Given the description of an element on the screen output the (x, y) to click on. 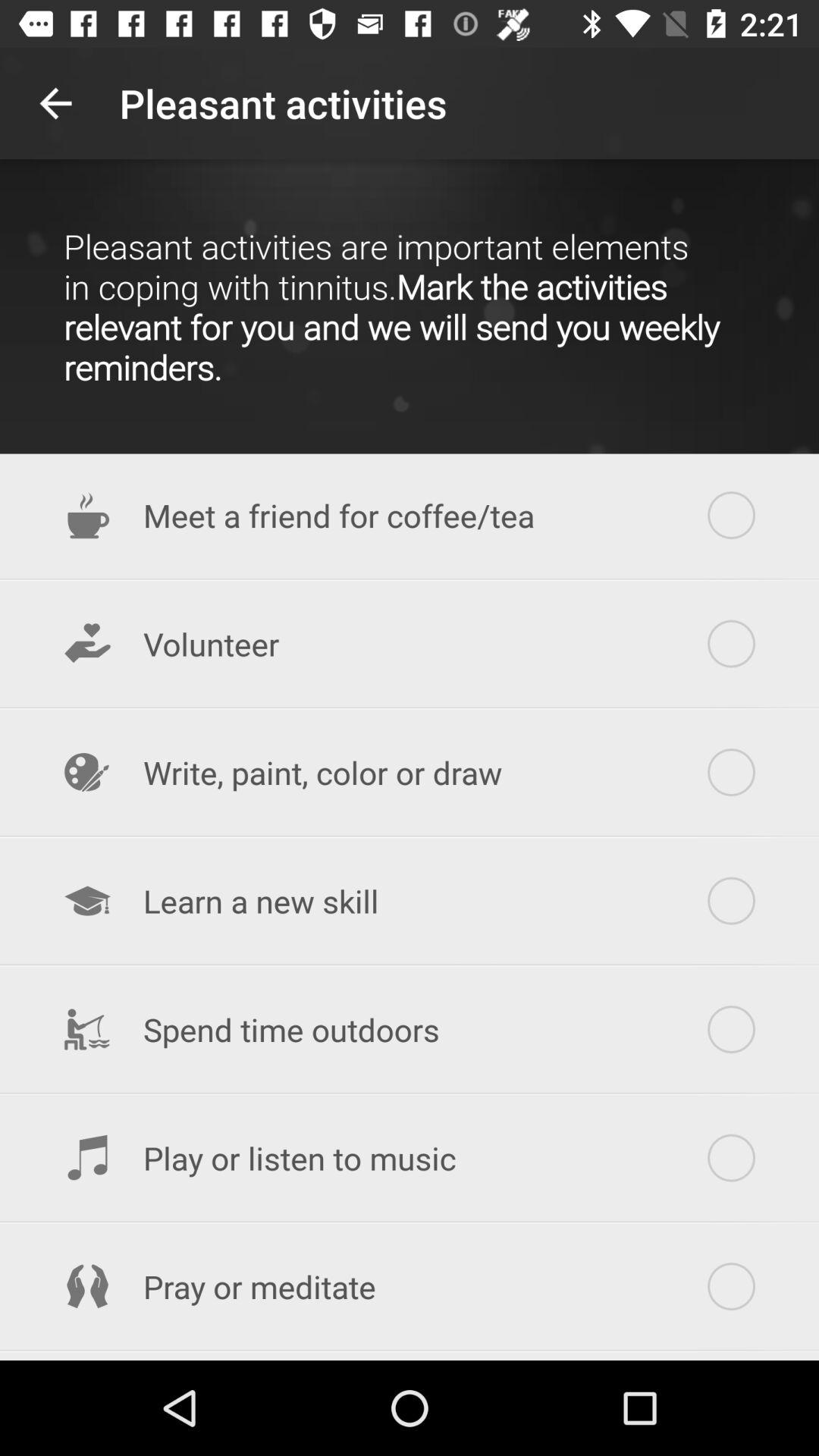
flip to volunteer item (409, 643)
